Given the description of an element on the screen output the (x, y) to click on. 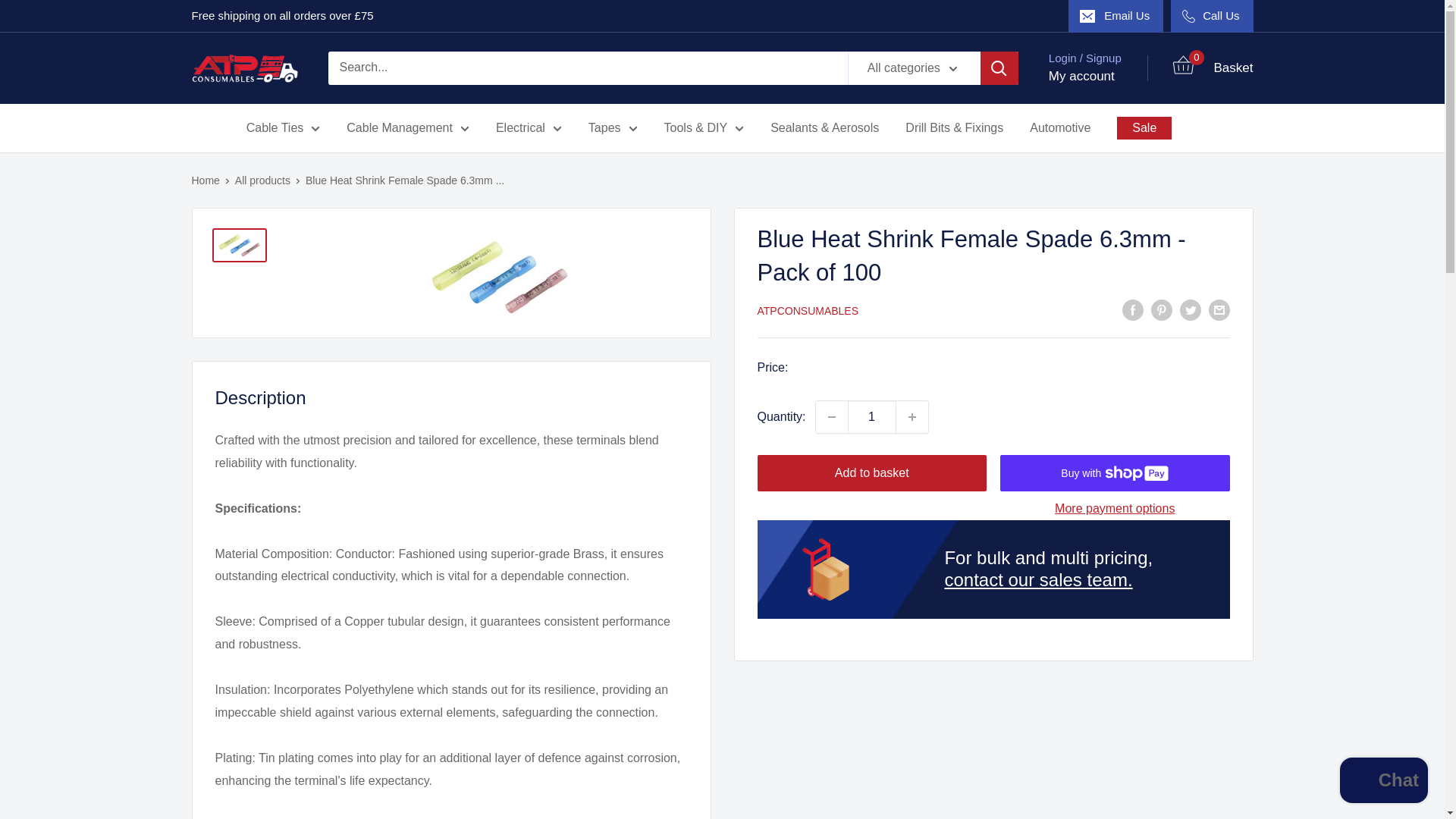
Shopify online store chat (1383, 781)
1 (871, 417)
Decrease quantity by 1 (831, 417)
Contact Us (1037, 579)
Email Us (1115, 15)
Increase quantity by 1 (912, 417)
Call Us (1211, 15)
